Given the description of an element on the screen output the (x, y) to click on. 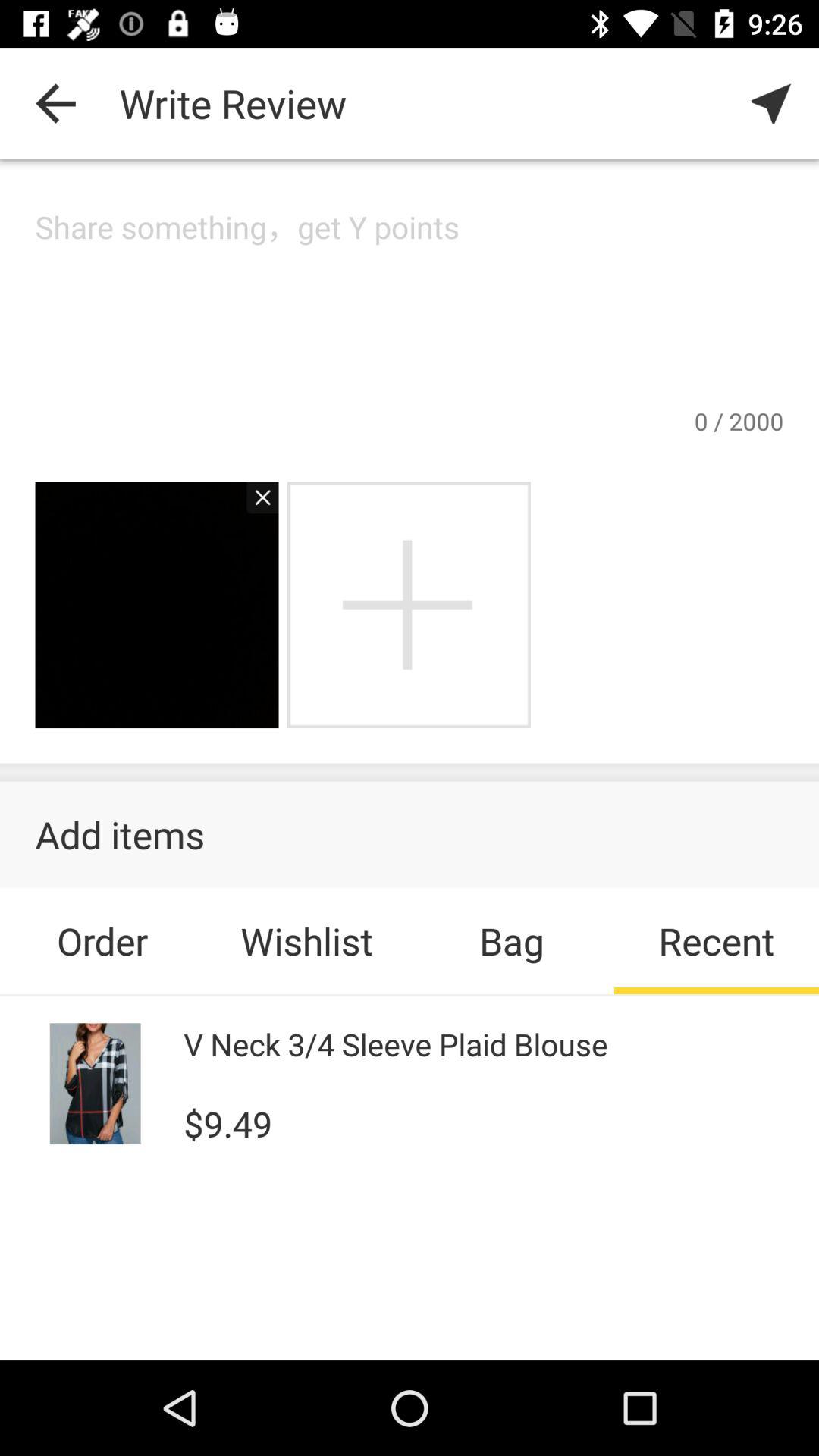
tap the icon above $9.49 (395, 1043)
